Given the description of an element on the screen output the (x, y) to click on. 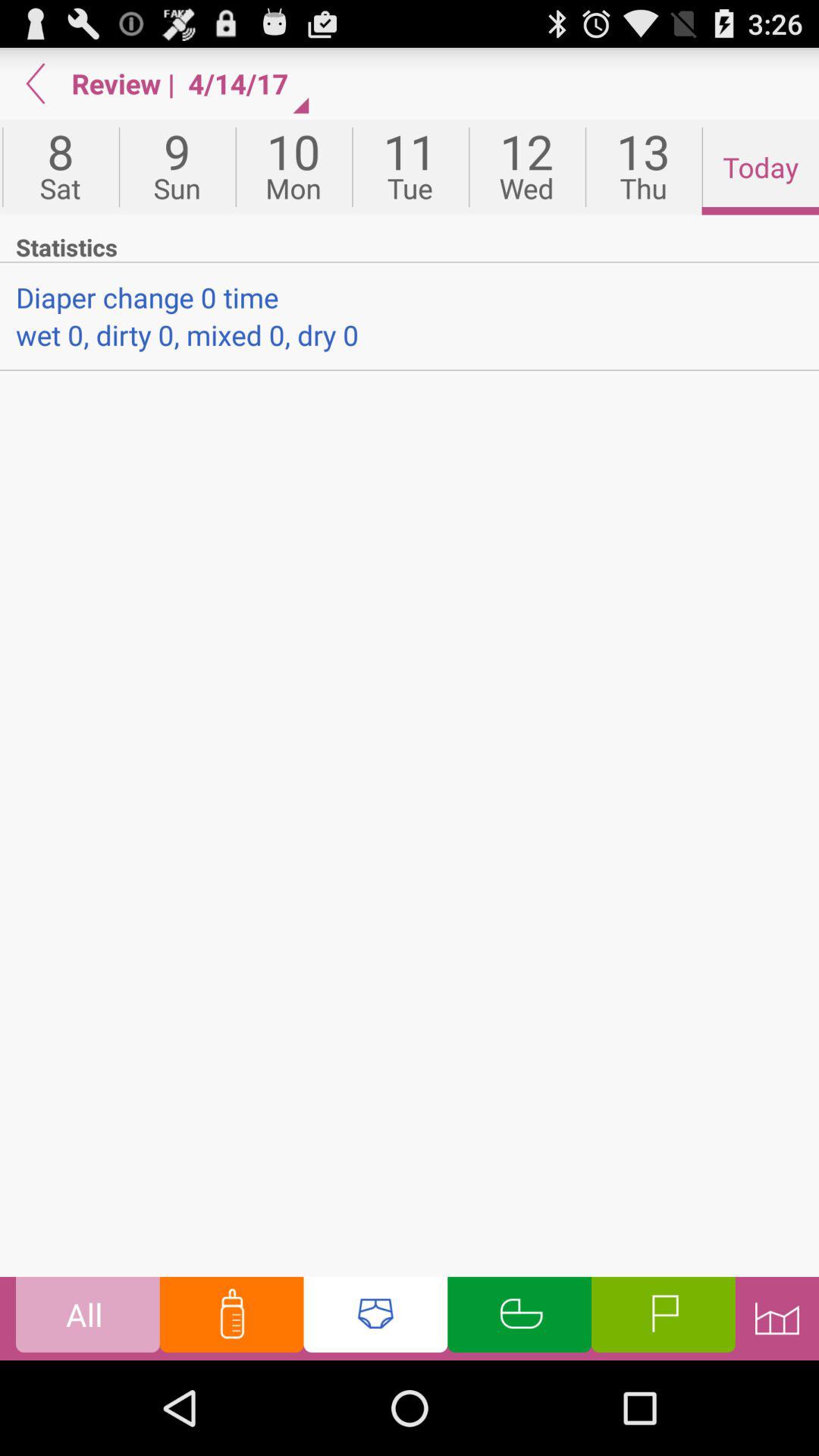
turn on the icon next to 10 (176, 166)
